Given the description of an element on the screen output the (x, y) to click on. 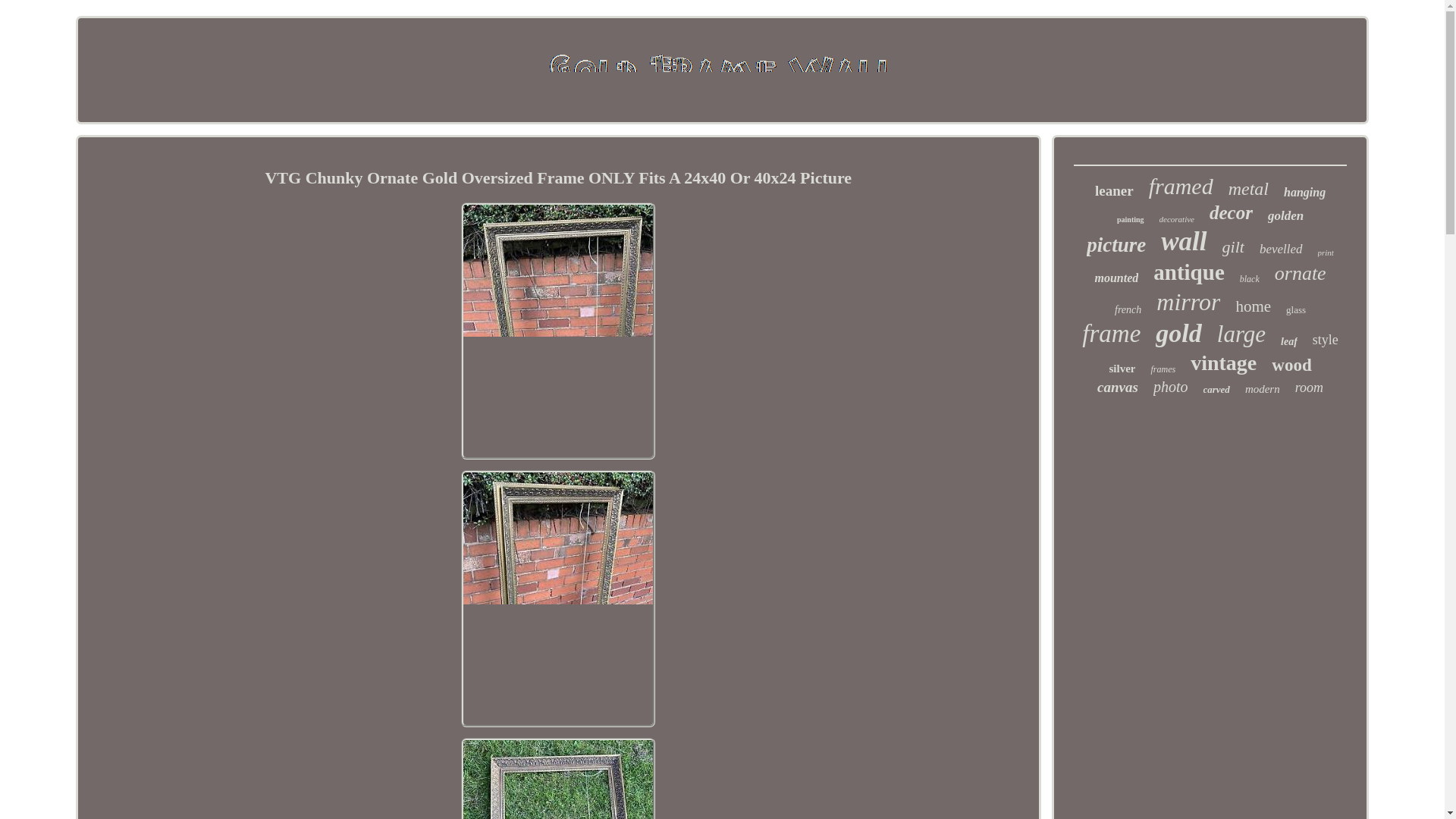
print (1325, 252)
mirror (1188, 302)
frame (1110, 334)
ornate (1300, 273)
golden (1285, 215)
wall (1183, 241)
french (1128, 309)
home (1252, 306)
glass (1295, 309)
